Given the description of an element on the screen output the (x, y) to click on. 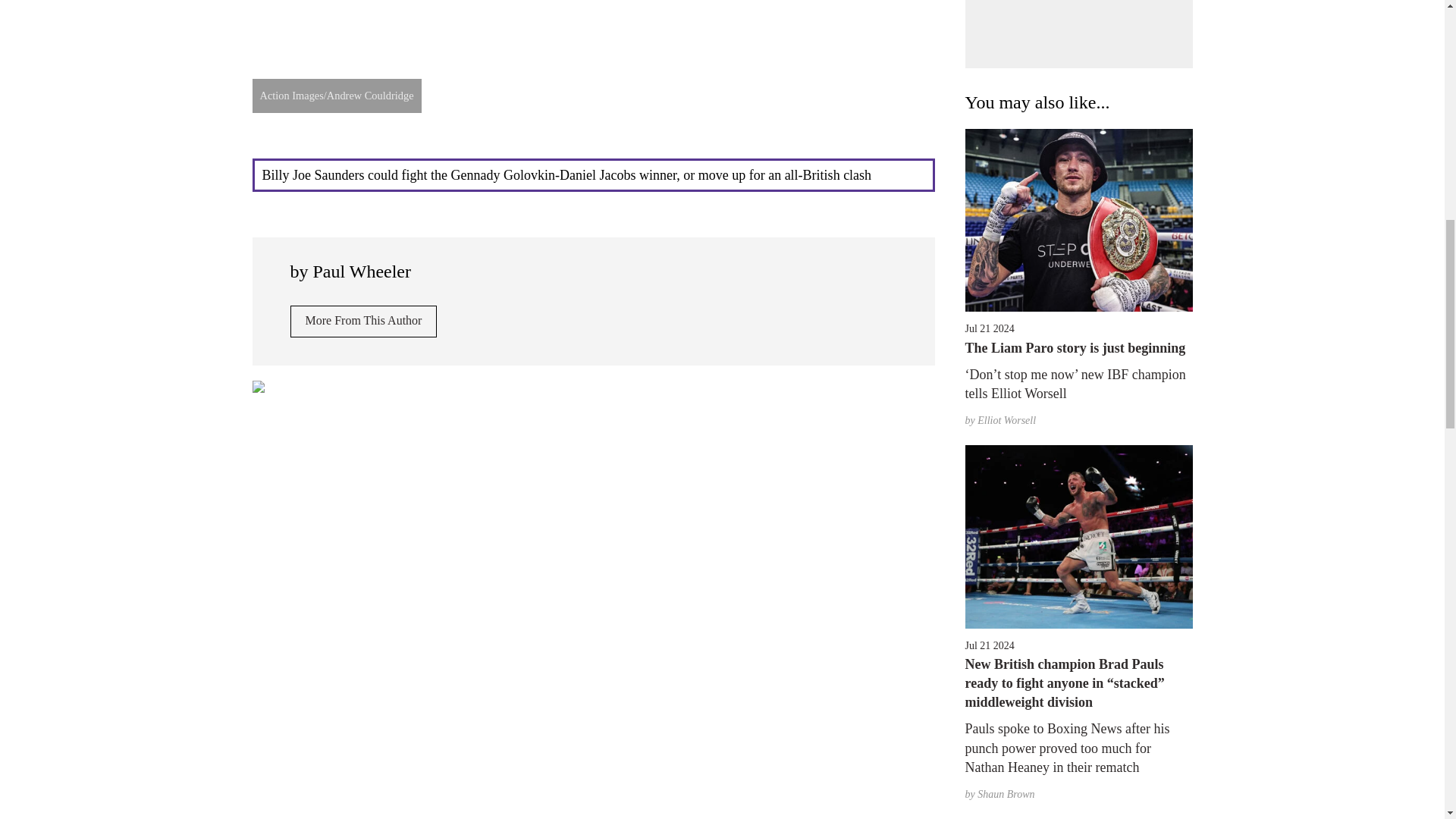
More From This Author (362, 321)
